Given the description of an element on the screen output the (x, y) to click on. 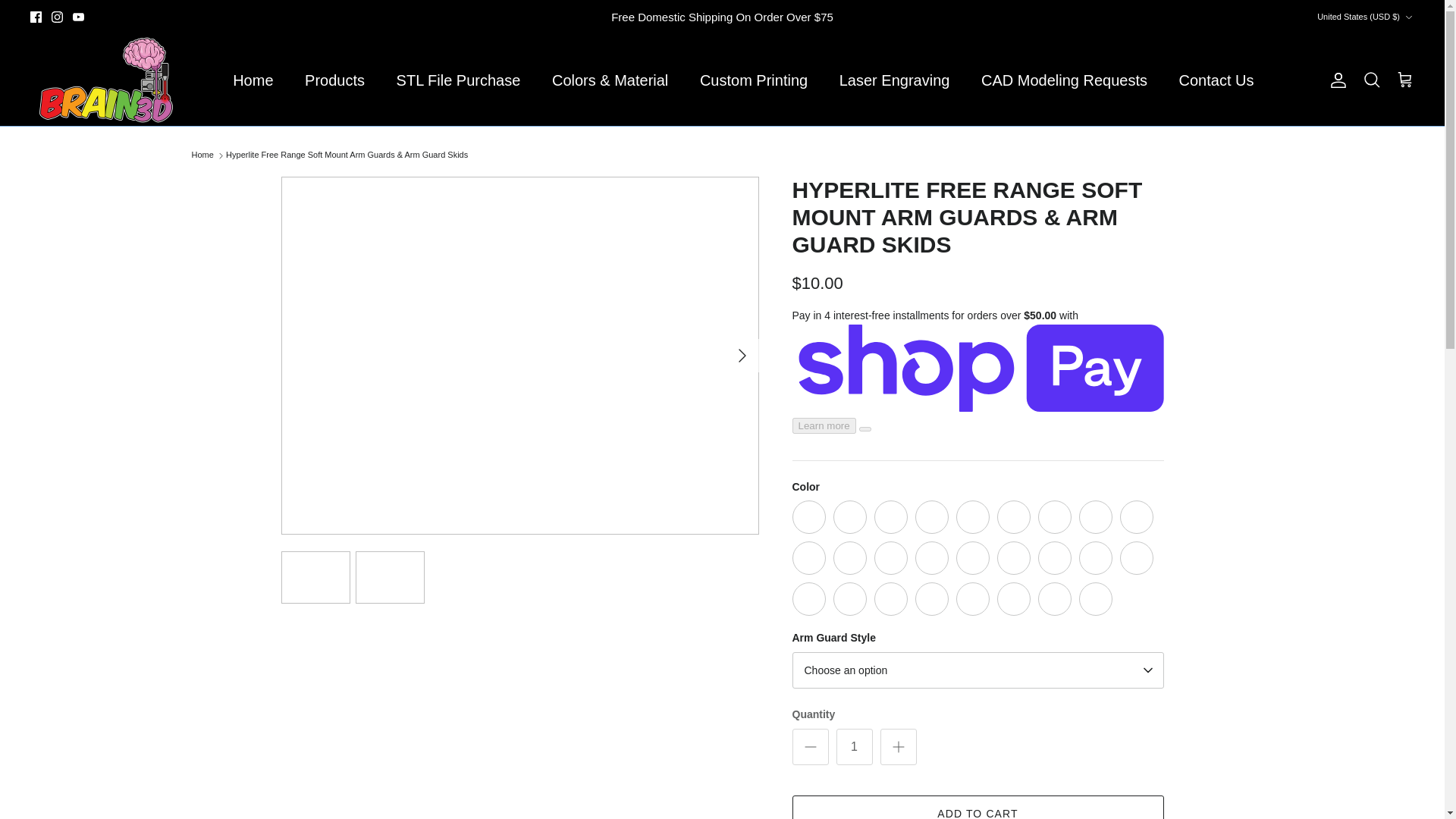
RIGHT (741, 355)
Instagram (56, 16)
Brain3D (106, 80)
1 (853, 746)
Youtube (78, 16)
Plus (897, 746)
Youtube (78, 16)
Facebook (36, 16)
Minus (809, 746)
Instagram (56, 16)
Facebook (36, 16)
Down (1408, 17)
